Given the description of an element on the screen output the (x, y) to click on. 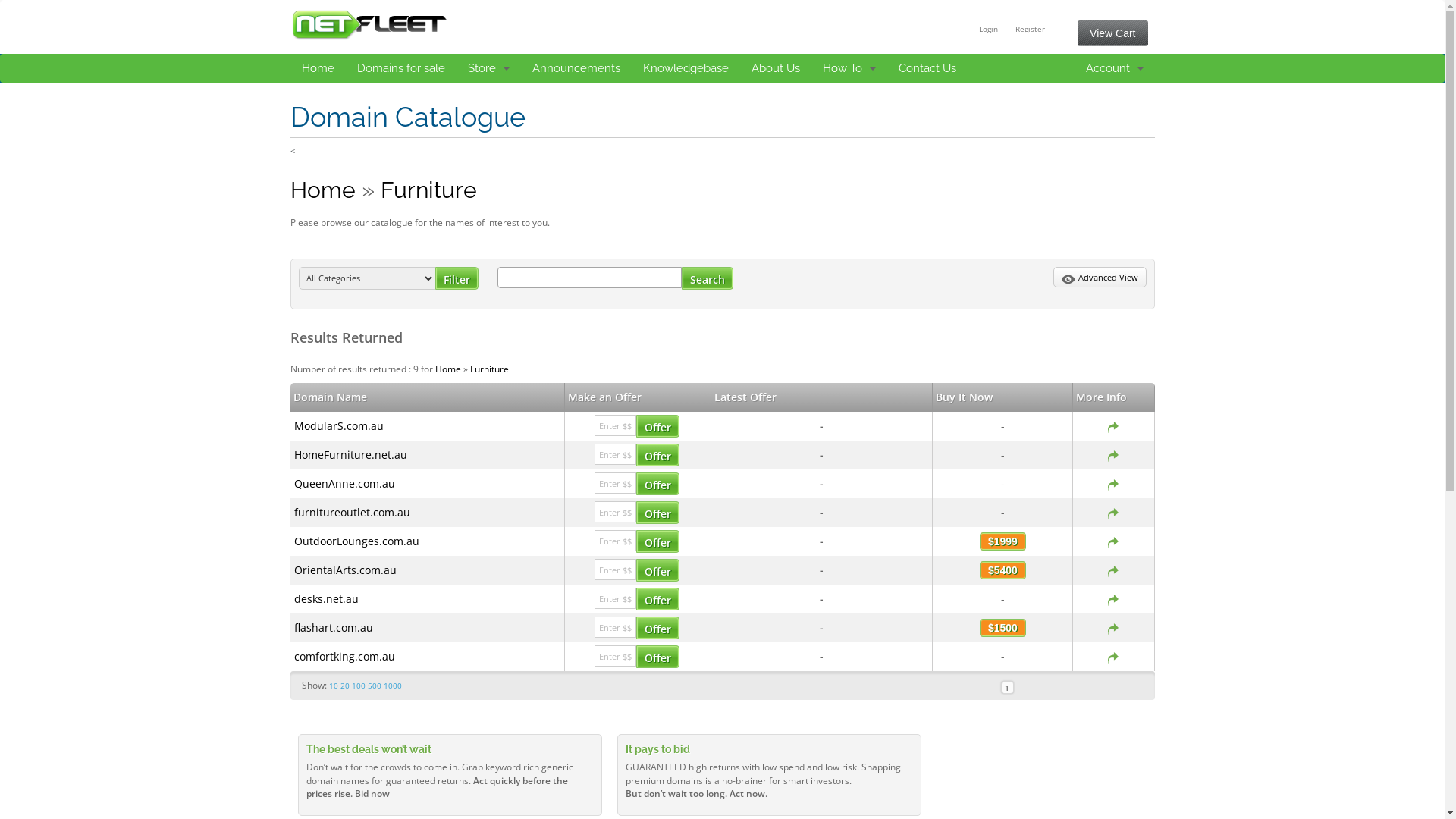
Offer Element type: text (657, 541)
View ModularS.com.au Element type: hover (1112, 425)
Search Element type: text (706, 277)
Offer Element type: text (657, 425)
Offer Element type: text (657, 512)
Store   Element type: text (488, 67)
furnitureoutlet.com.au Element type: text (352, 512)
500 Element type: text (373, 685)
$1999 Element type: text (1002, 541)
comfortking.com.au Element type: text (344, 656)
Announcements Element type: text (575, 67)
Filter Element type: text (456, 277)
Login Element type: text (988, 28)
View comfortking.com.au Element type: hover (1112, 656)
View flashart.com.au Element type: hover (1112, 627)
20 Element type: text (343, 685)
About Us Element type: text (775, 67)
Home Element type: text (321, 189)
$5400 Element type: text (1002, 570)
View OutdoorLounges.com.au Element type: hover (1112, 540)
100 Element type: text (358, 685)
1 Element type: text (1007, 686)
Offer Element type: text (657, 656)
Offer Element type: text (657, 627)
Latest Offer Element type: text (745, 396)
Offer Element type: text (657, 454)
View furnitureoutlet.com.au Element type: hover (1112, 512)
View Cart Element type: text (1112, 33)
HomeFurniture.net.au Element type: text (350, 454)
Knowledgebase Element type: text (684, 67)
Home Element type: text (317, 67)
View QueenAnne.com.au Element type: hover (1112, 483)
QueenAnne.com.au Element type: text (344, 483)
Domains for sale Element type: text (400, 67)
OrientalArts.com.au Element type: text (345, 569)
Buy It Now Element type: text (963, 396)
Furniture Element type: text (489, 368)
Offer Element type: text (657, 569)
Account   Element type: text (1113, 67)
Furniture Element type: text (428, 189)
How To   Element type: text (849, 67)
$1500 Element type: text (1002, 627)
View HomeFurniture.net.au Element type: hover (1112, 454)
desks.net.au Element type: text (326, 598)
Offer Element type: text (657, 483)
Domain Name Element type: text (426, 396)
1000 Element type: text (392, 685)
Advanced View Element type: text (1098, 277)
Home Element type: text (448, 368)
OutdoorLounges.com.au Element type: text (356, 540)
View desks.net.au Element type: hover (1112, 598)
Register Element type: text (1029, 28)
Offer Element type: text (657, 598)
Contact Us Element type: text (927, 67)
10 Element type: text (333, 685)
View OrientalArts.com.au Element type: hover (1112, 569)
flashart.com.au Element type: text (333, 627)
ModularS.com.au Element type: text (338, 425)
